Given the description of an element on the screen output the (x, y) to click on. 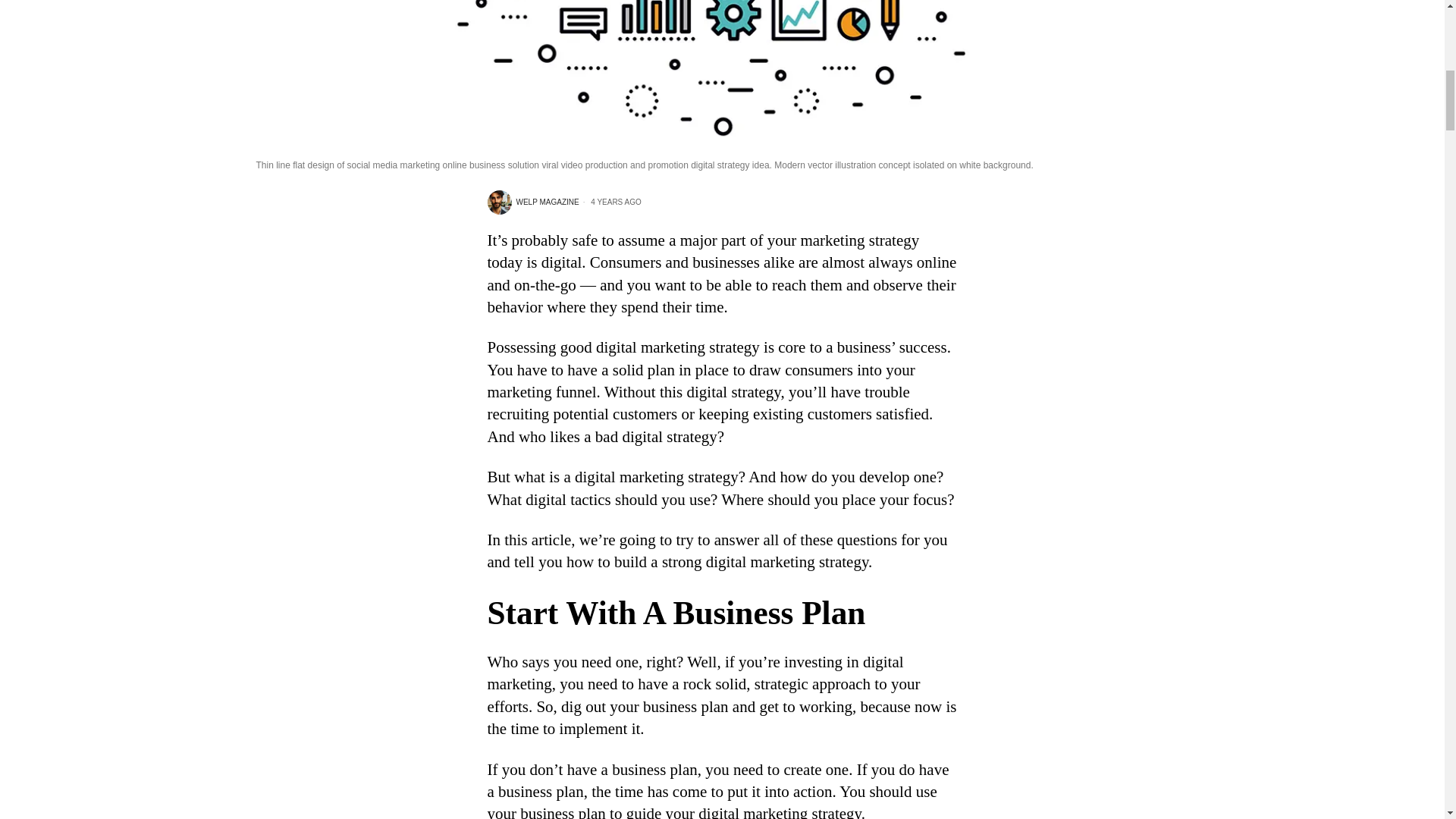
30 Sep, 2020 02:35:10 (610, 202)
WELP MAGAZINE (532, 202)
